Given the description of an element on the screen output the (x, y) to click on. 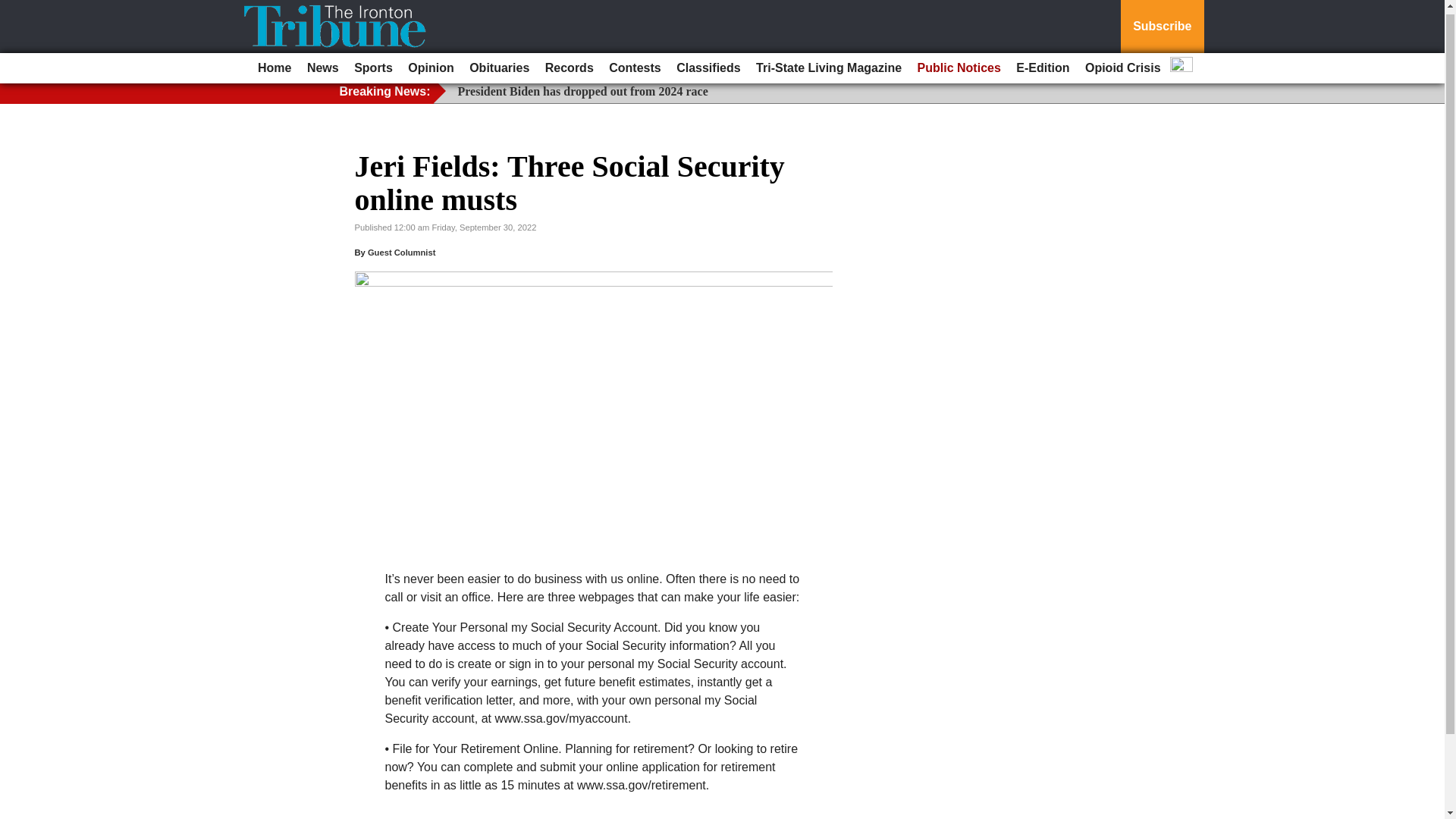
President Biden has dropped out from 2024 race (582, 91)
News (323, 64)
Tri-State Living Magazine (828, 64)
Public Notices (959, 64)
President Biden has dropped out from 2024 race (582, 91)
Guest Columnist (401, 252)
Obituaries (499, 64)
Home (274, 64)
Subscribe (1162, 24)
Opinion (430, 64)
Sports (372, 64)
E-Edition (1042, 64)
Contests (634, 64)
Go (13, 7)
Records (568, 64)
